Given the description of an element on the screen output the (x, y) to click on. 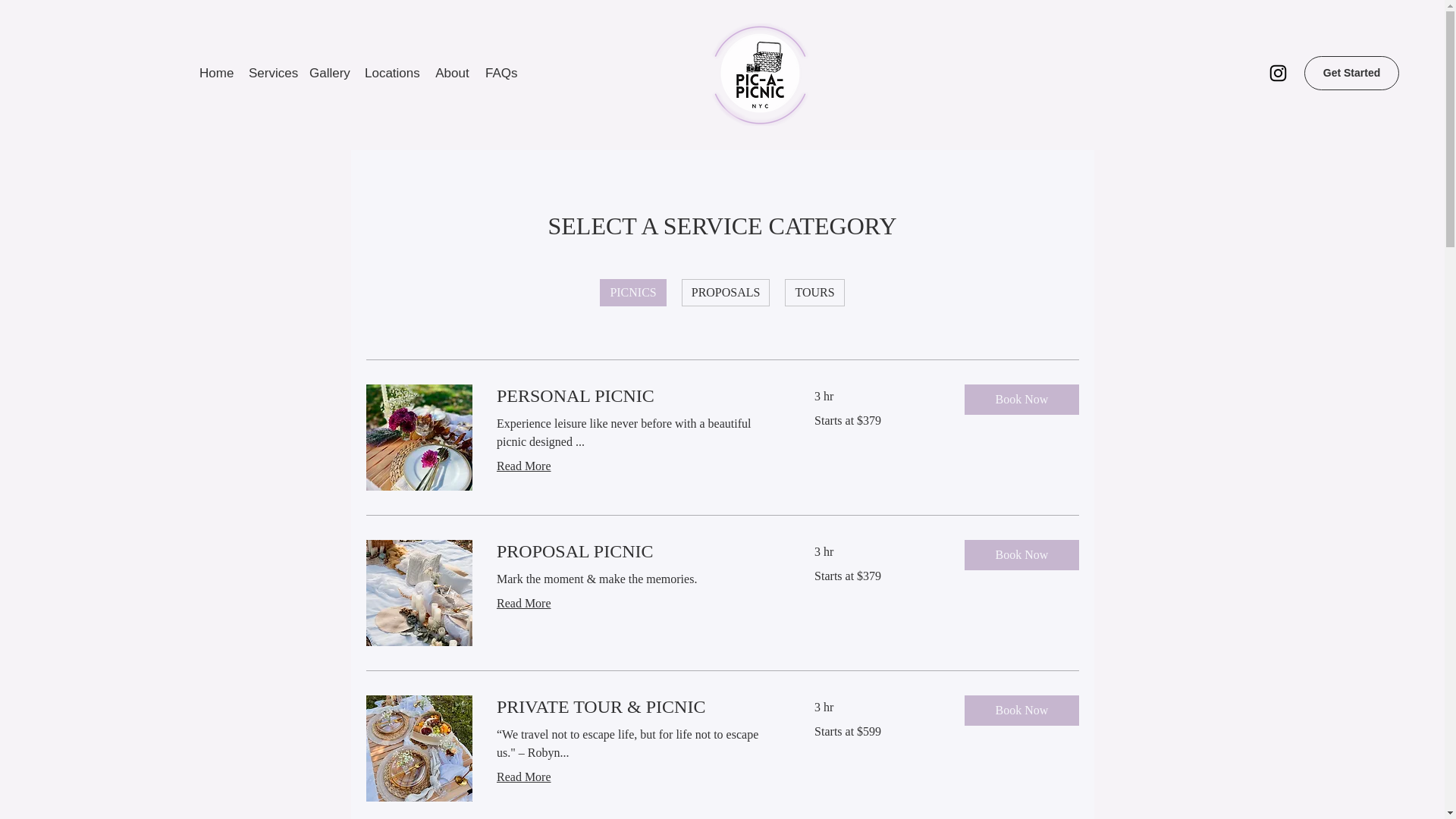
Book Now (1020, 710)
PROPOSAL PICNIC (636, 551)
Read More (636, 603)
Book Now (1020, 399)
PERSONAL PICNIC (636, 396)
Read More (636, 466)
Get Started (1351, 73)
Book Now (1020, 554)
Read More (636, 777)
